Given the description of an element on the screen output the (x, y) to click on. 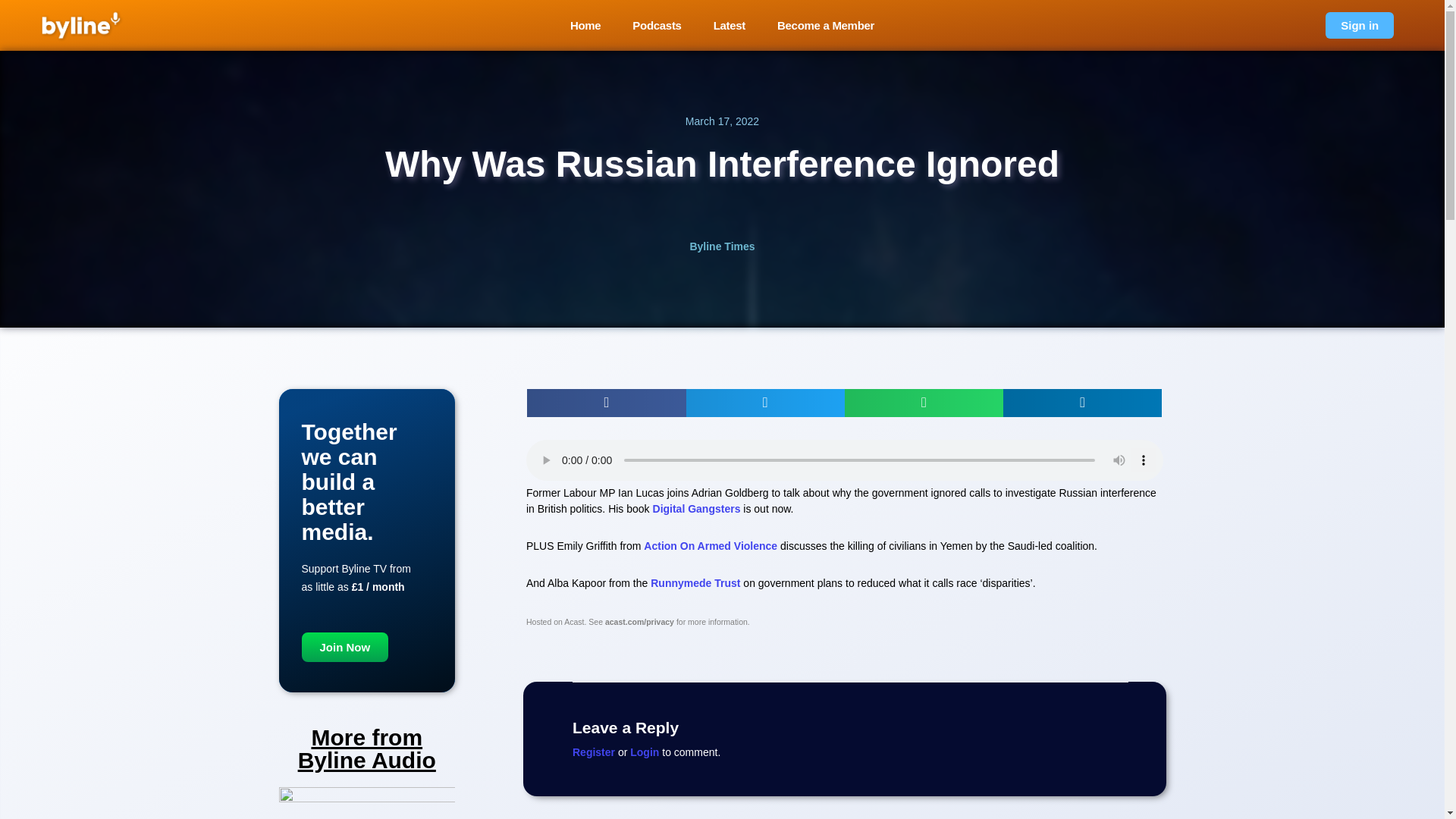
Latest (729, 25)
Home (585, 25)
Join Now (344, 646)
Podcasts (656, 25)
Become a Member (826, 25)
Sign in (1358, 25)
